Given the description of an element on the screen output the (x, y) to click on. 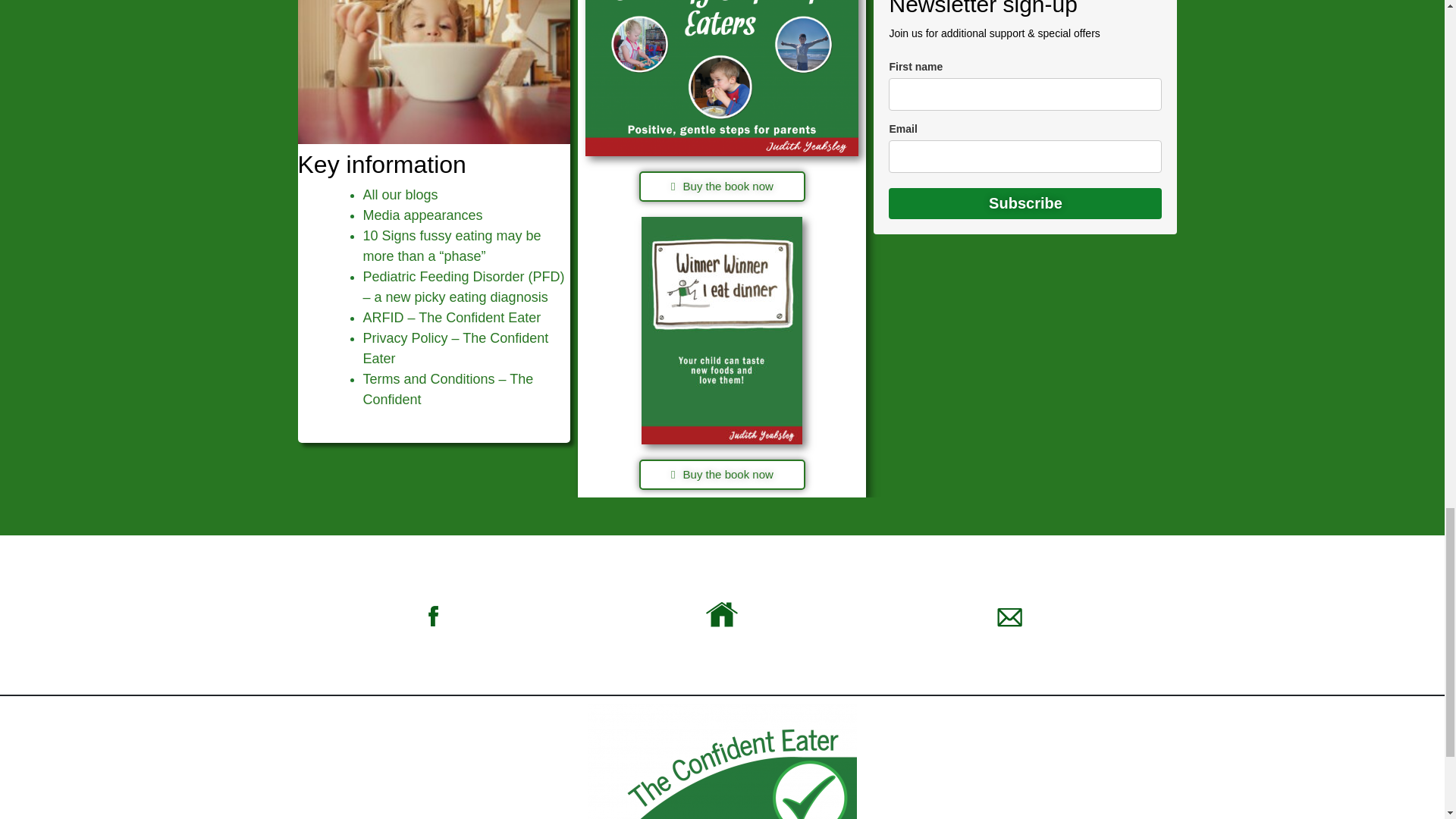
Subscribe (1024, 203)
Buy the book now (722, 186)
All our blogs (400, 194)
Media appearances (421, 215)
Buy the book now (722, 474)
